Given the description of an element on the screen output the (x, y) to click on. 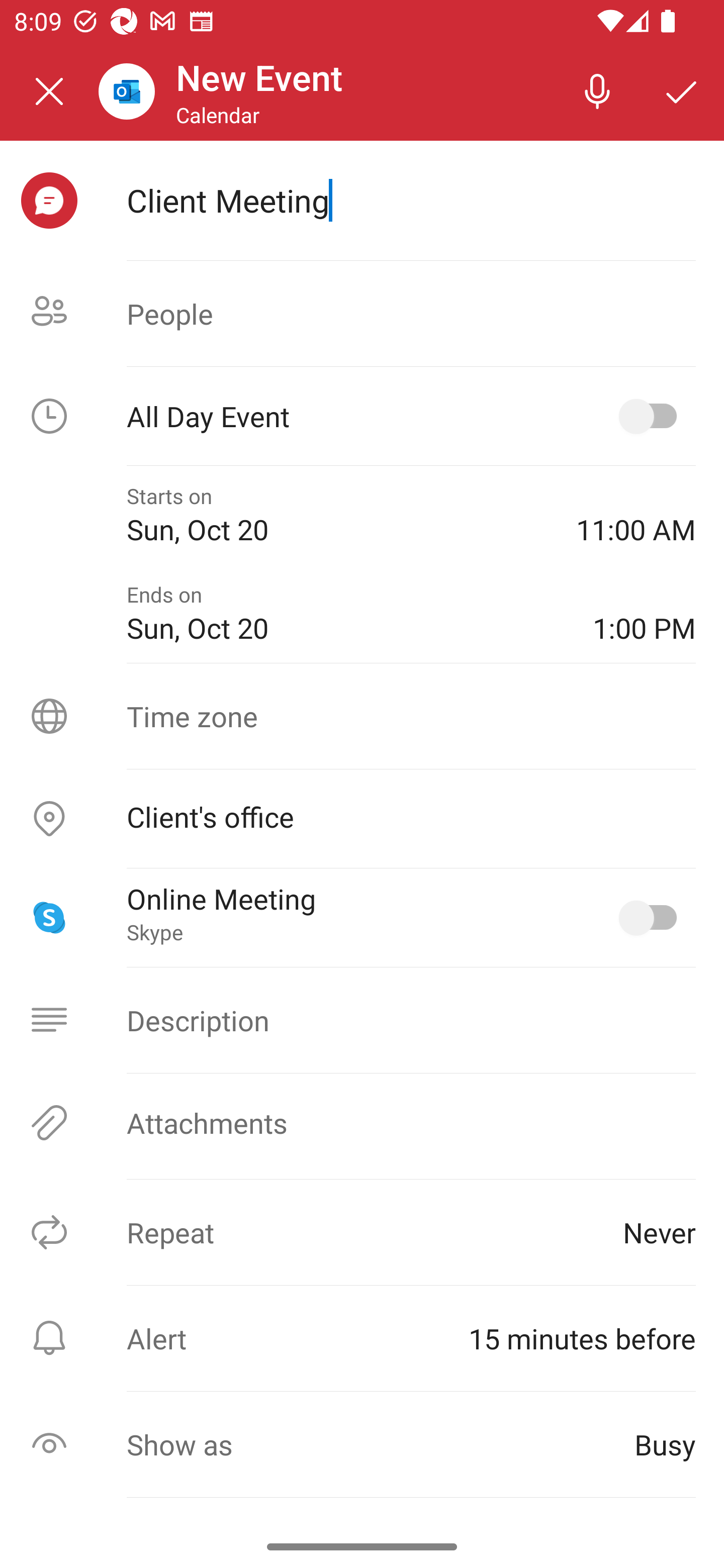
Close (49, 91)
Save (681, 90)
Client Meeting (410, 200)
meeting selected, event icon picker (48, 200)
People (362, 313)
All Day Event (362, 415)
Starts on Sun, Oct 20 (336, 514)
11:00 AM (635, 514)
Ends on Sun, Oct 20 (345, 613)
1:00 PM (644, 613)
Time zone (362, 715)
Location, Client's office Client's office (362, 818)
Online Meeting, Skype selected (651, 917)
Description (362, 1019)
Attachments (362, 1122)
Repeat Never (362, 1232)
Alert ⁨15 minutes before (362, 1337)
Show as Busy (362, 1444)
